Given the description of an element on the screen output the (x, y) to click on. 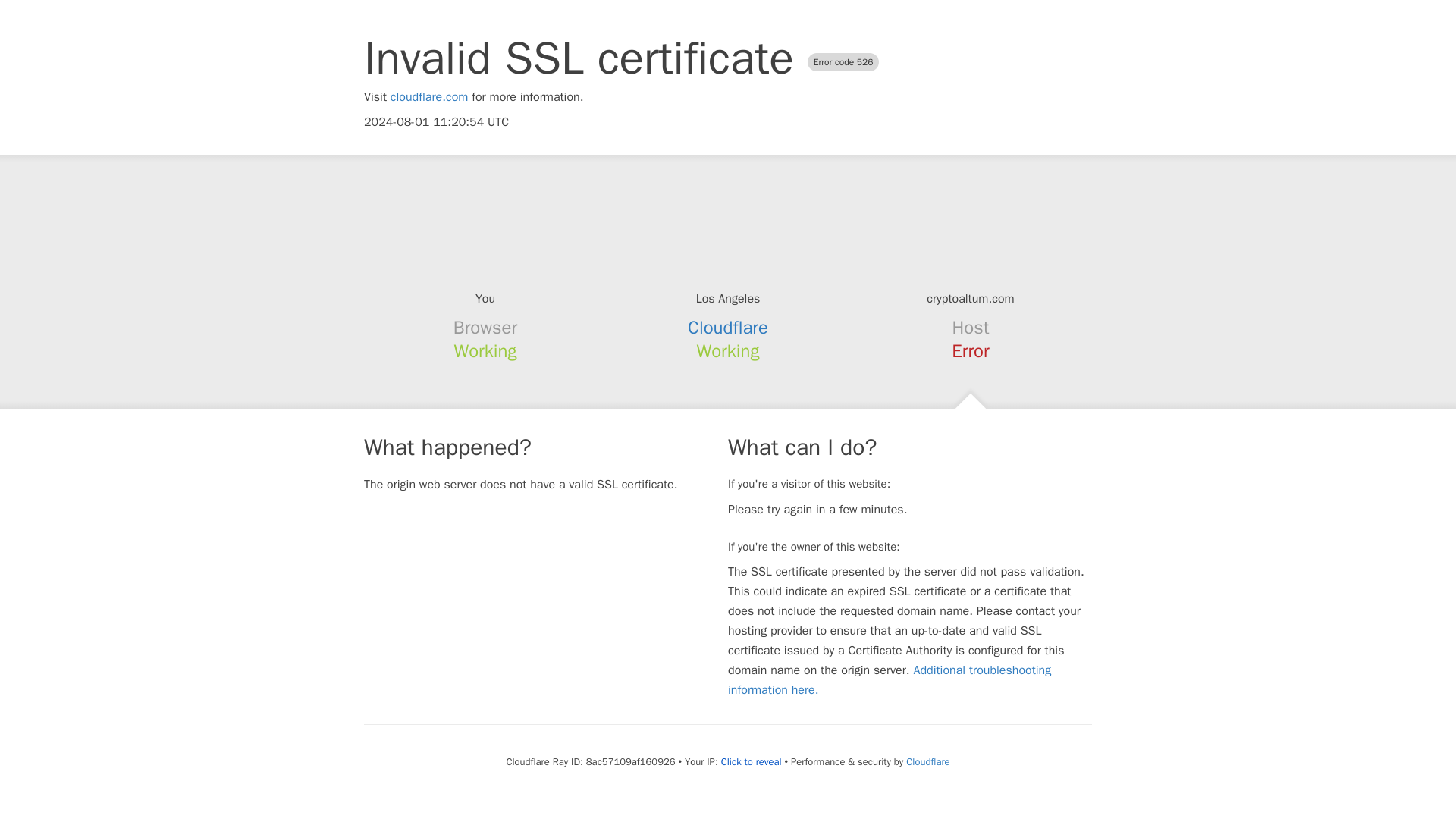
Cloudflare (727, 327)
Cloudflare (927, 761)
cloudflare.com (429, 96)
Additional troubleshooting information here. (889, 679)
Click to reveal (749, 762)
